Given the description of an element on the screen output the (x, y) to click on. 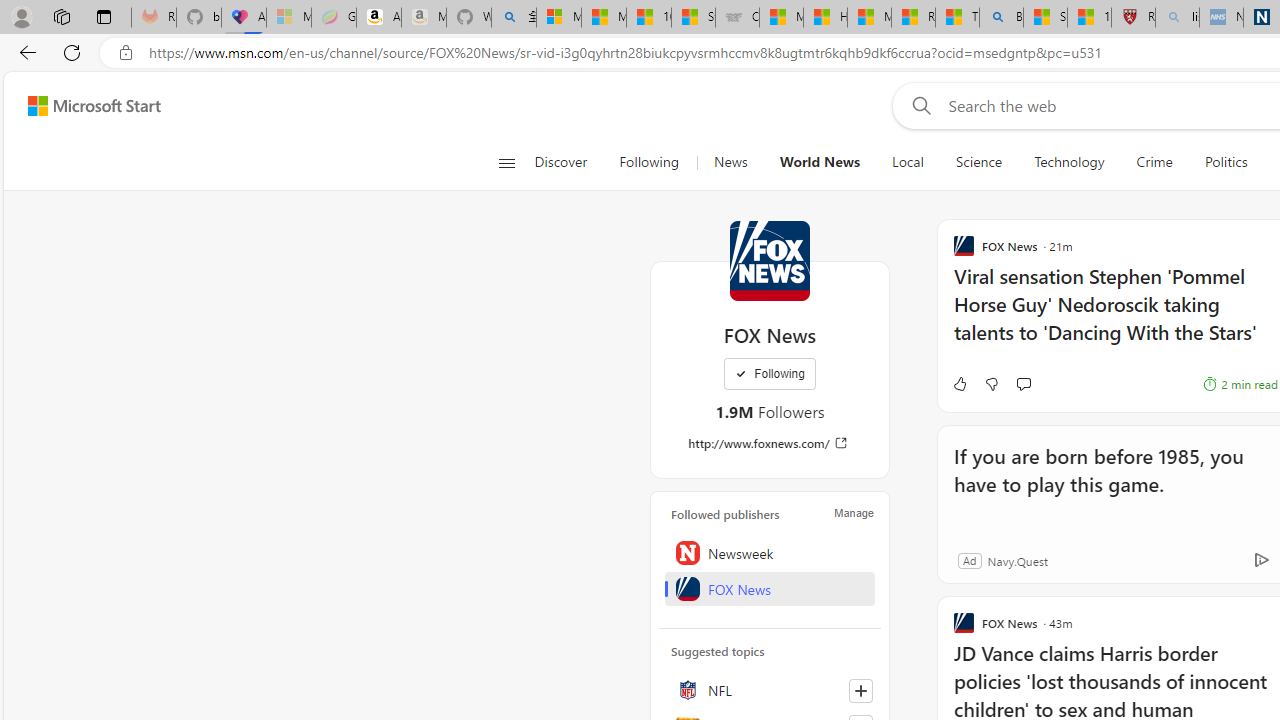
Bing (1001, 17)
Recipes - MSN (913, 17)
